Given the description of an element on the screen output the (x, y) to click on. 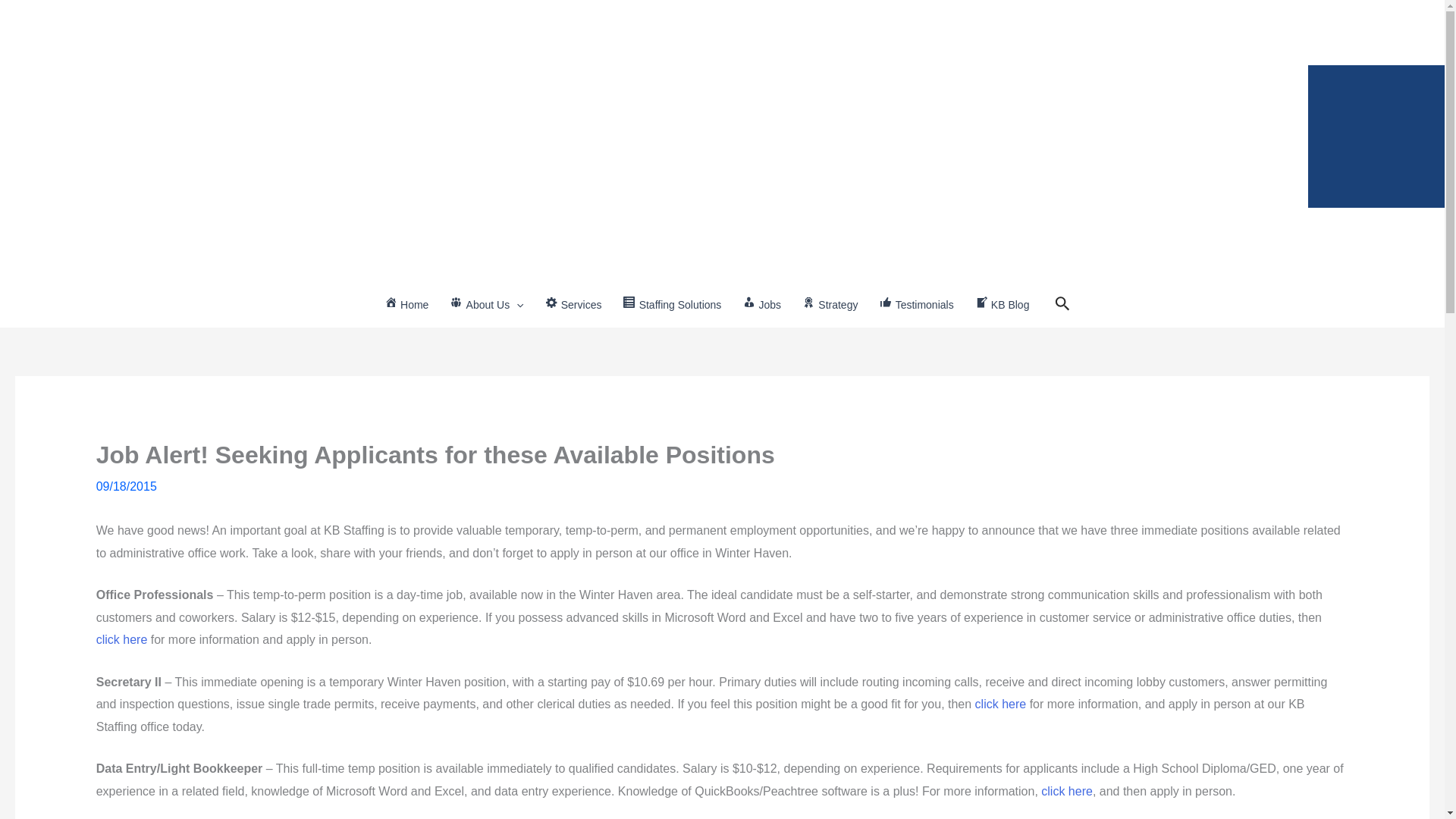
Staffing Solutions (671, 304)
Strategy (829, 304)
Home (406, 304)
click here (1067, 790)
Testimonials (915, 304)
Jobs (762, 304)
click here (122, 639)
click here (1000, 703)
KB Blog (1002, 304)
Services (573, 304)
